Given the description of an element on the screen output the (x, y) to click on. 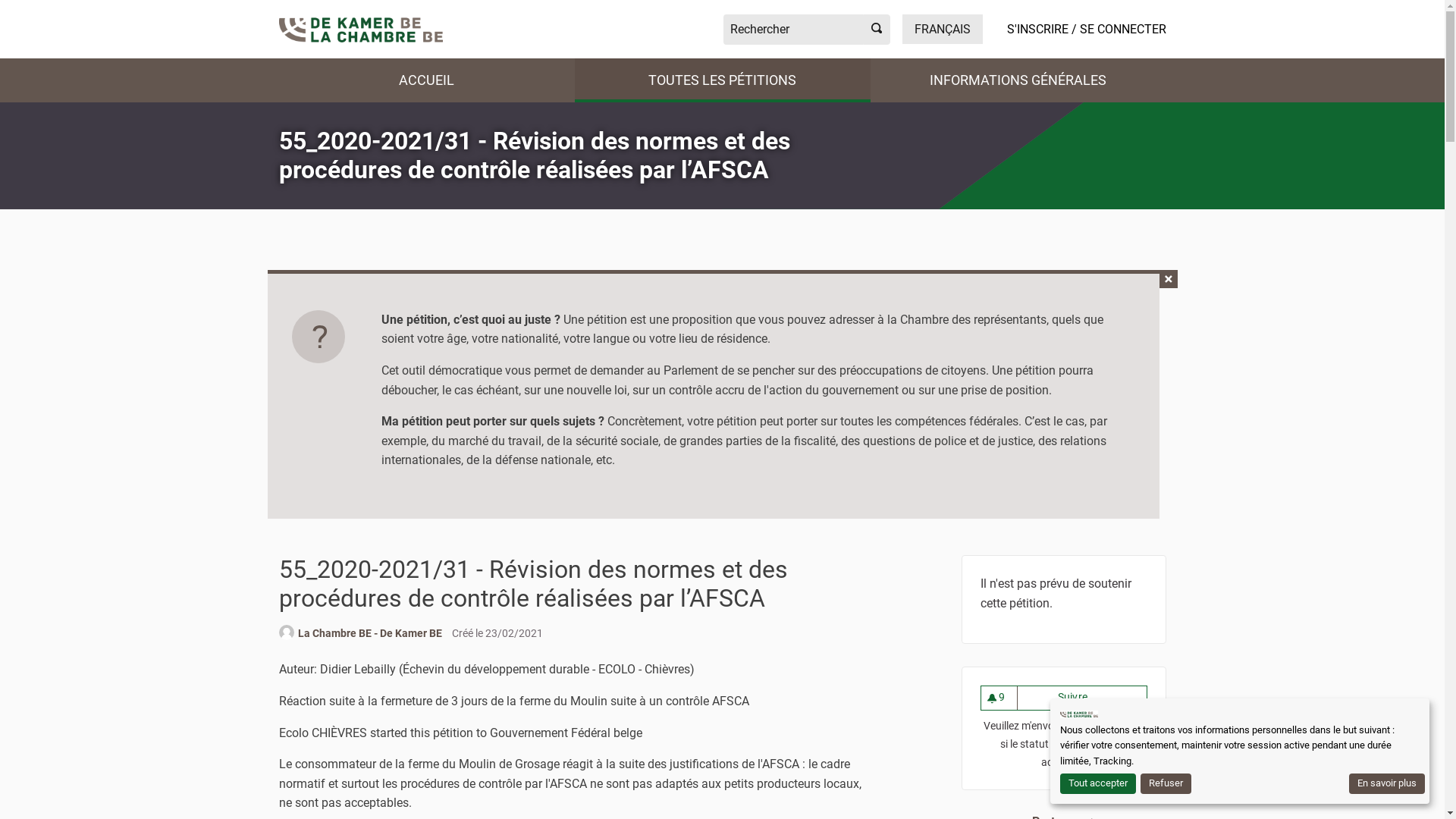
S'INSCRIRE / SE CONNECTER Element type: text (1086, 28)
Rechercher Element type: text (876, 28)
Rechercher Element type: hover (792, 28)
La Chambre BE - De Kamer BE Element type: text (369, 633)
En savoir plus Element type: text (1386, 783)
ACCUEIL Element type: text (426, 80)
Refuser Element type: text (1165, 783)
Tout accepter Element type: text (1097, 783)
